Given the description of an element on the screen output the (x, y) to click on. 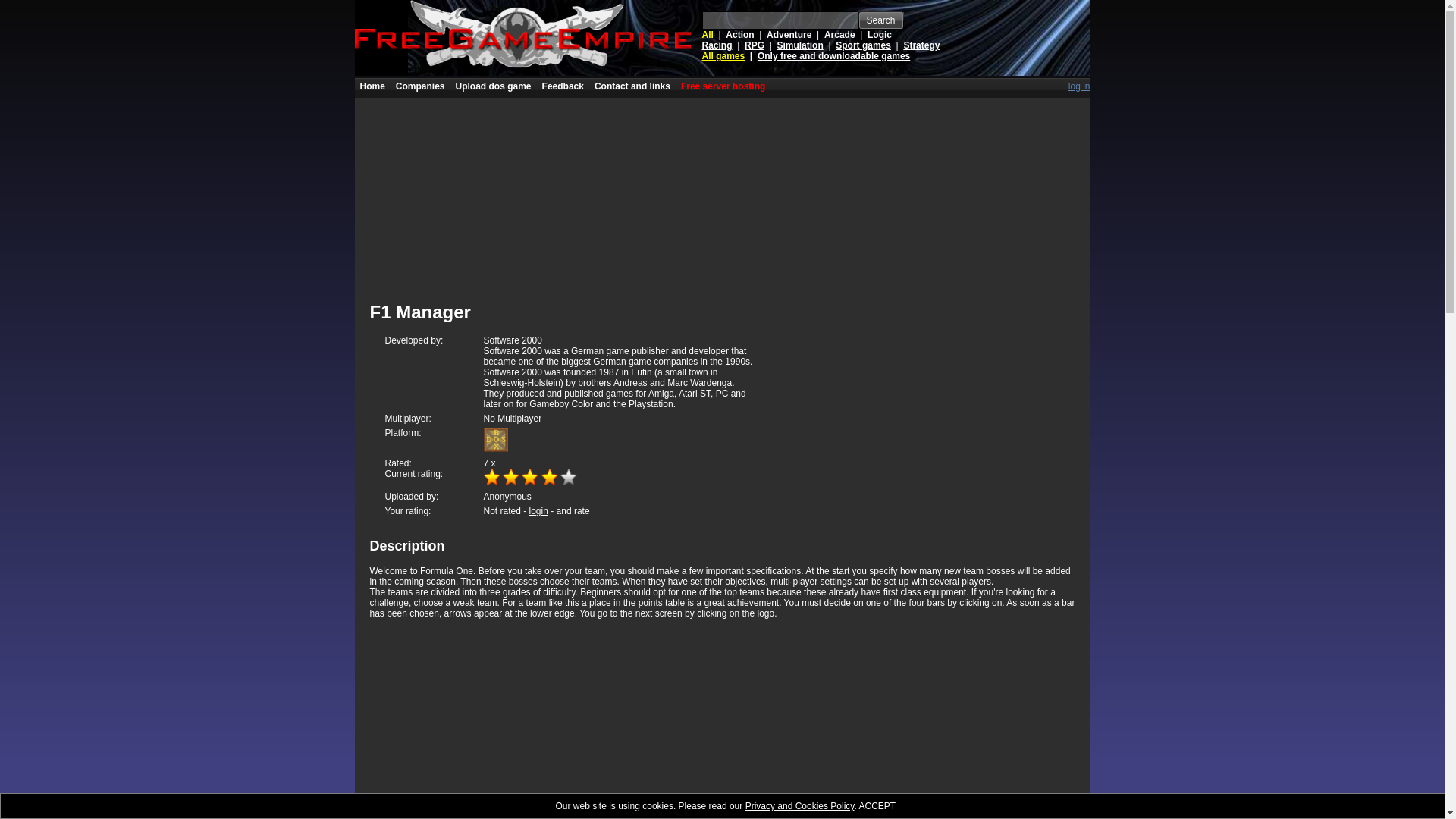
Only free and downloadable games (833, 55)
Free server hosting (723, 86)
Arcade (840, 34)
Feedback (562, 86)
Home (371, 86)
Feedback (562, 86)
Search (881, 20)
Go back to the defaul portal page (371, 86)
Simulation (799, 45)
Upload dos game (493, 86)
